Given the description of an element on the screen output the (x, y) to click on. 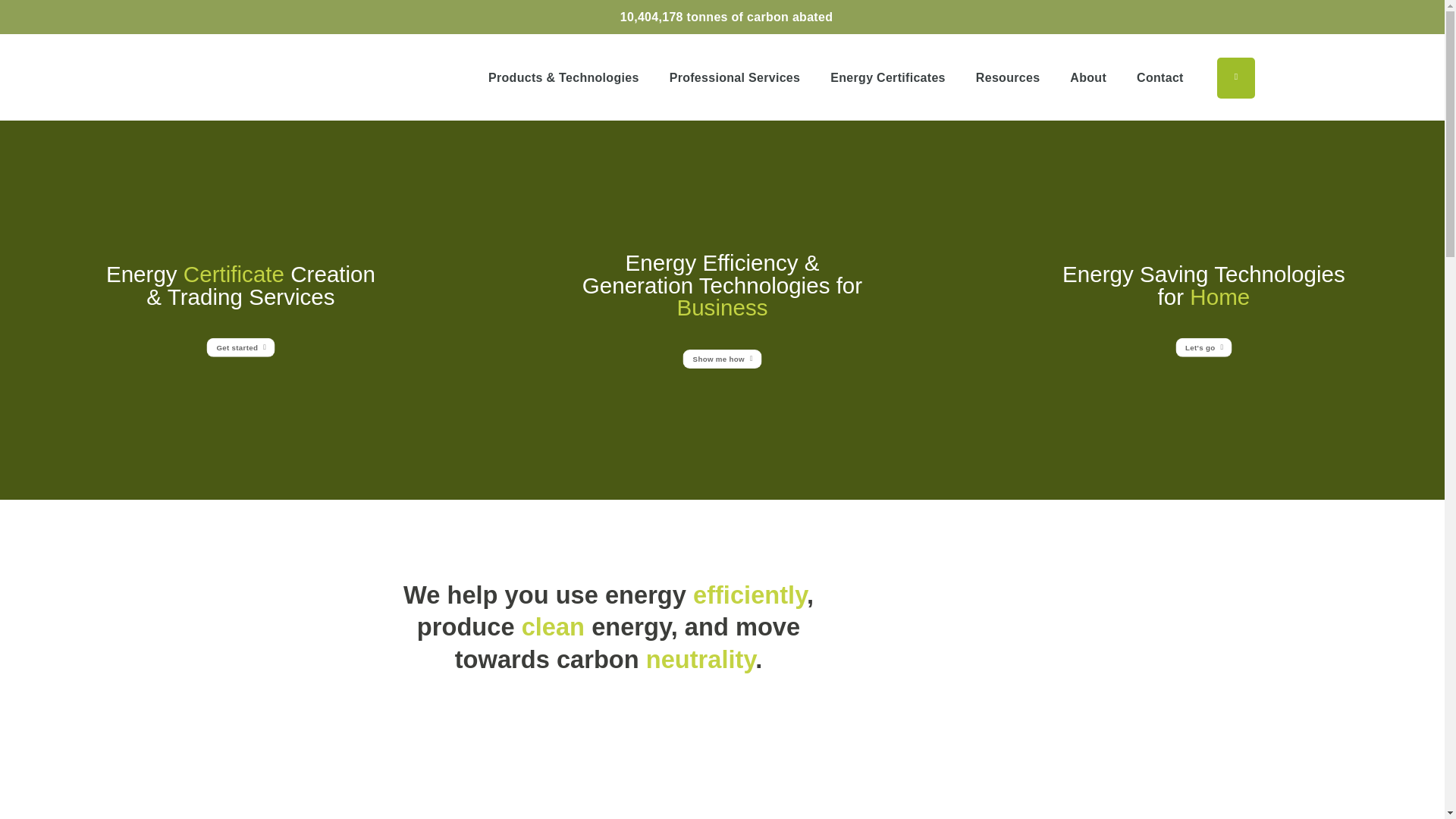
Energy Certificates (887, 78)
Professional Services (735, 78)
10,404,178 tonnes of carbon abated (726, 16)
